Given the description of an element on the screen output the (x, y) to click on. 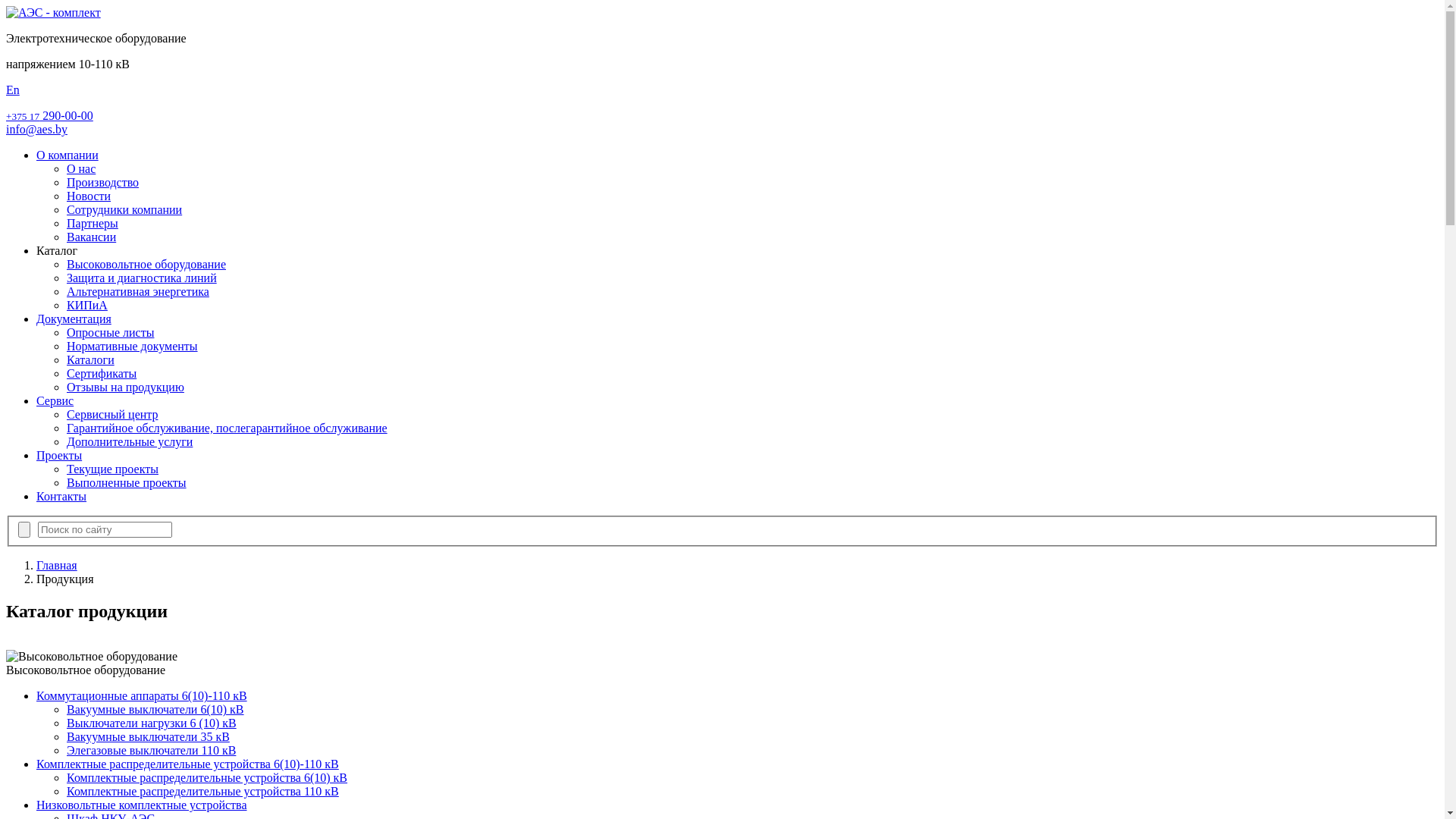
+375 17 290-00-00 Element type: text (49, 115)
En Element type: text (12, 89)
info@aes.by Element type: text (36, 128)
